Given the description of an element on the screen output the (x, y) to click on. 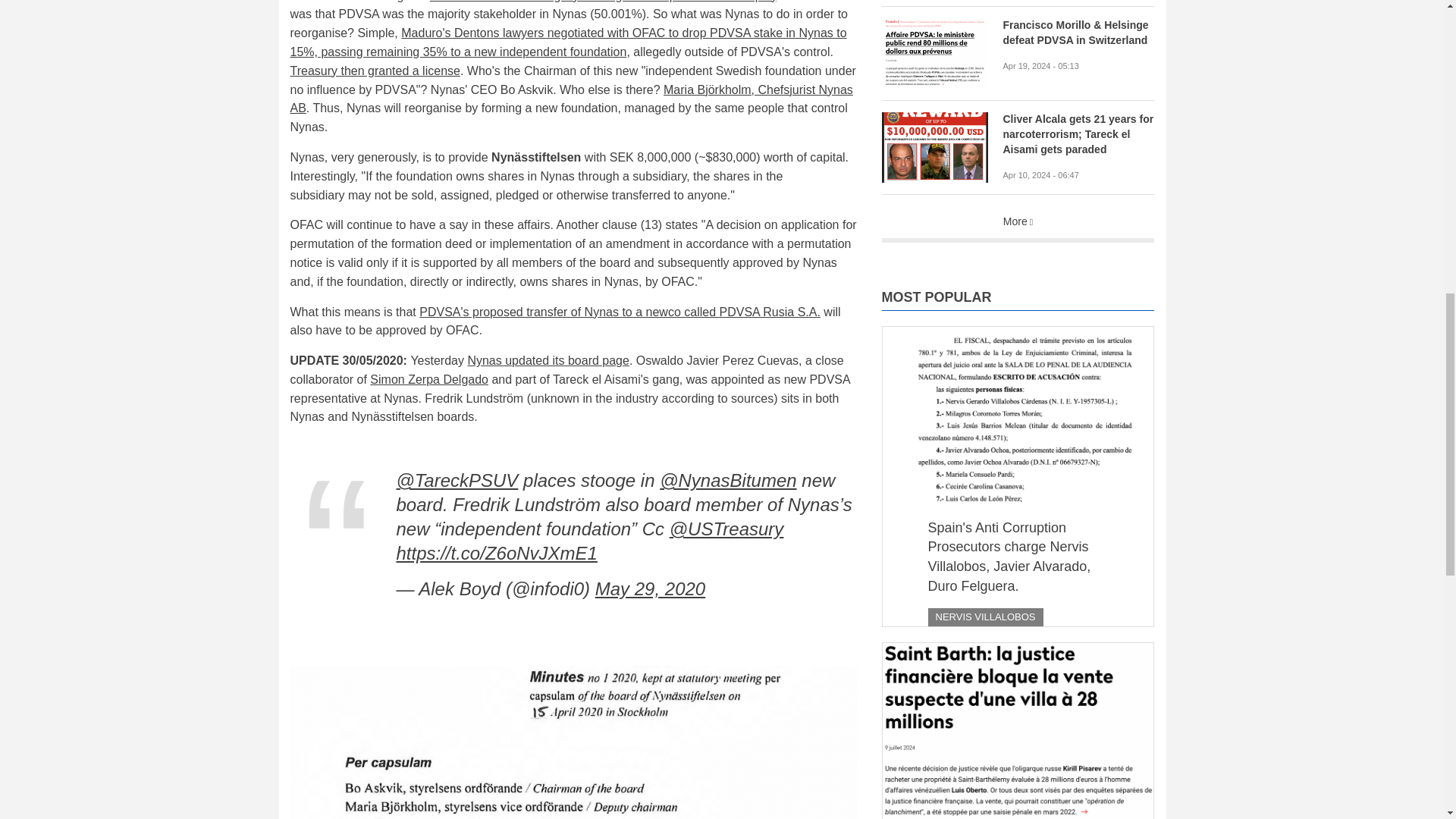
Simon Zerpa Delgado (428, 379)
Cliver Alcala. (933, 147)
Treasury then granted a license (374, 70)
Nynas updated its board page (547, 359)
May 29, 2020 (649, 588)
